Given the description of an element on the screen output the (x, y) to click on. 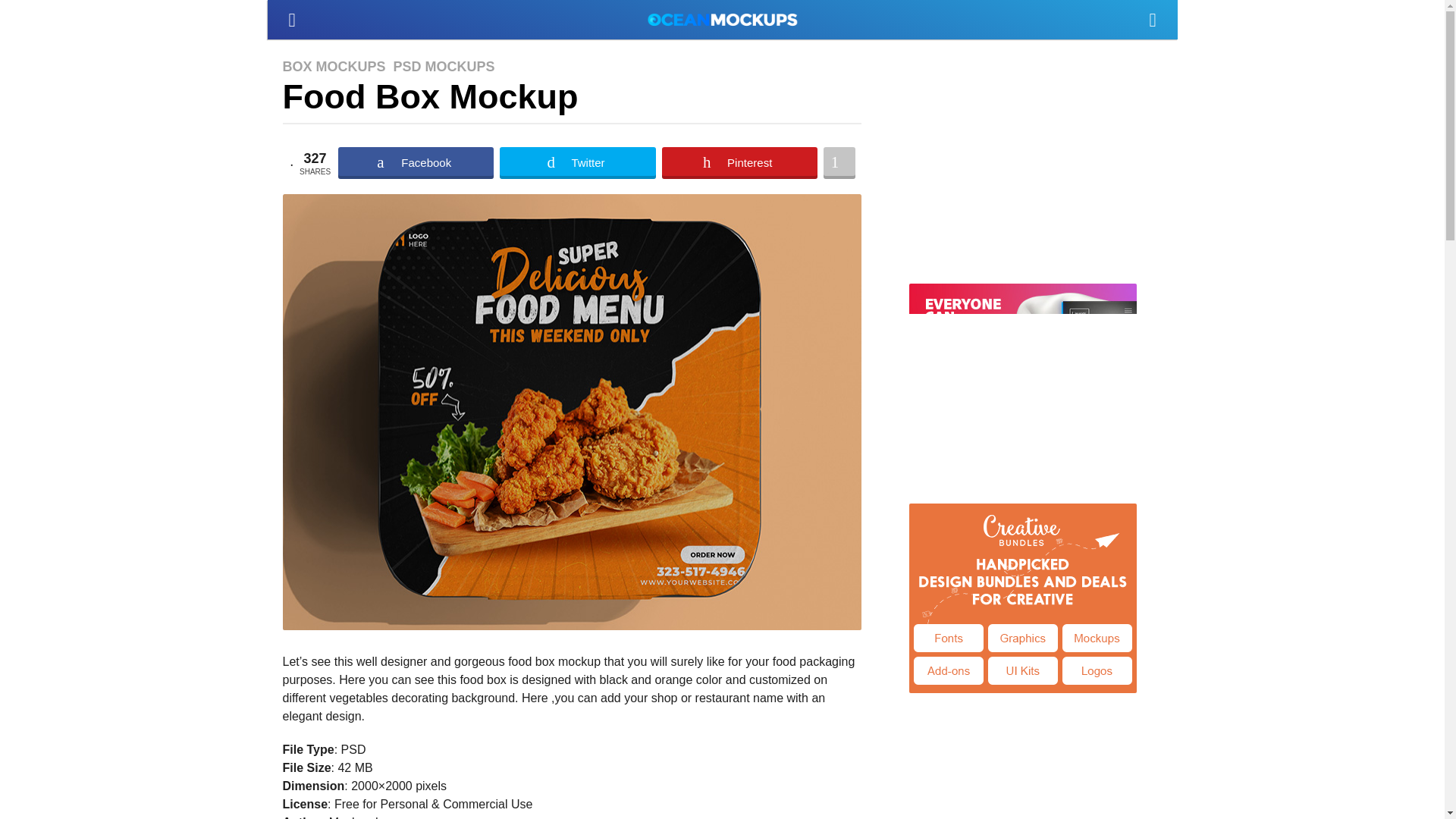
Share on Twitter (577, 163)
Share on More Button (840, 163)
Share on Pinterest (739, 163)
Share on Facebook (415, 163)
